Given the description of an element on the screen output the (x, y) to click on. 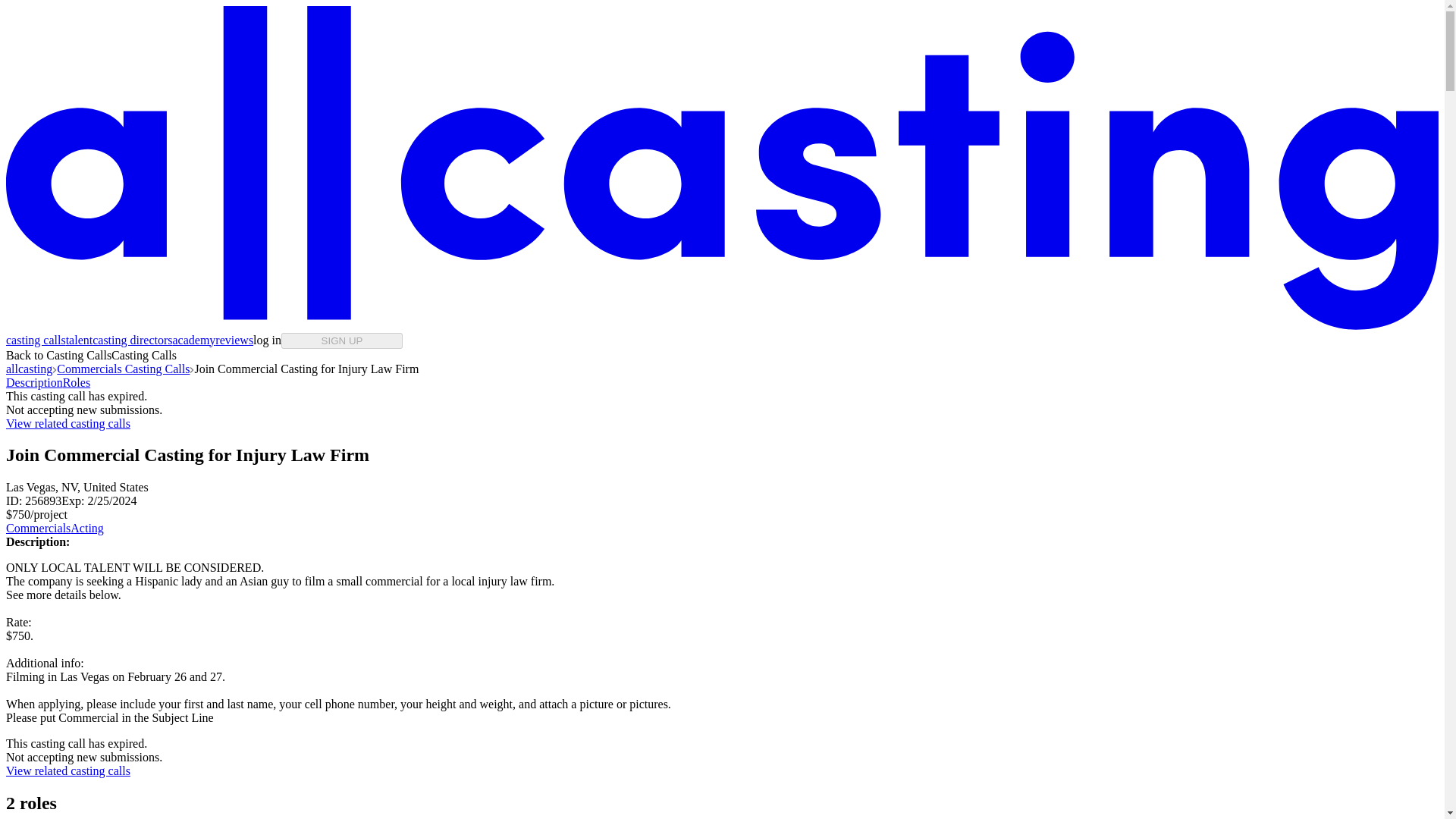
Acting (86, 527)
casting directors (132, 339)
SIGN UP (342, 340)
allcasting (28, 368)
View related casting calls (68, 422)
reviews (234, 339)
Description (33, 382)
casting calls (35, 339)
View related casting calls (68, 770)
academy (193, 339)
Commercials Casting Calls (122, 368)
Commercials (37, 527)
talent (79, 339)
Roles (76, 382)
Back to Casting CallsCasting Calls (90, 354)
